Given the description of an element on the screen output the (x, y) to click on. 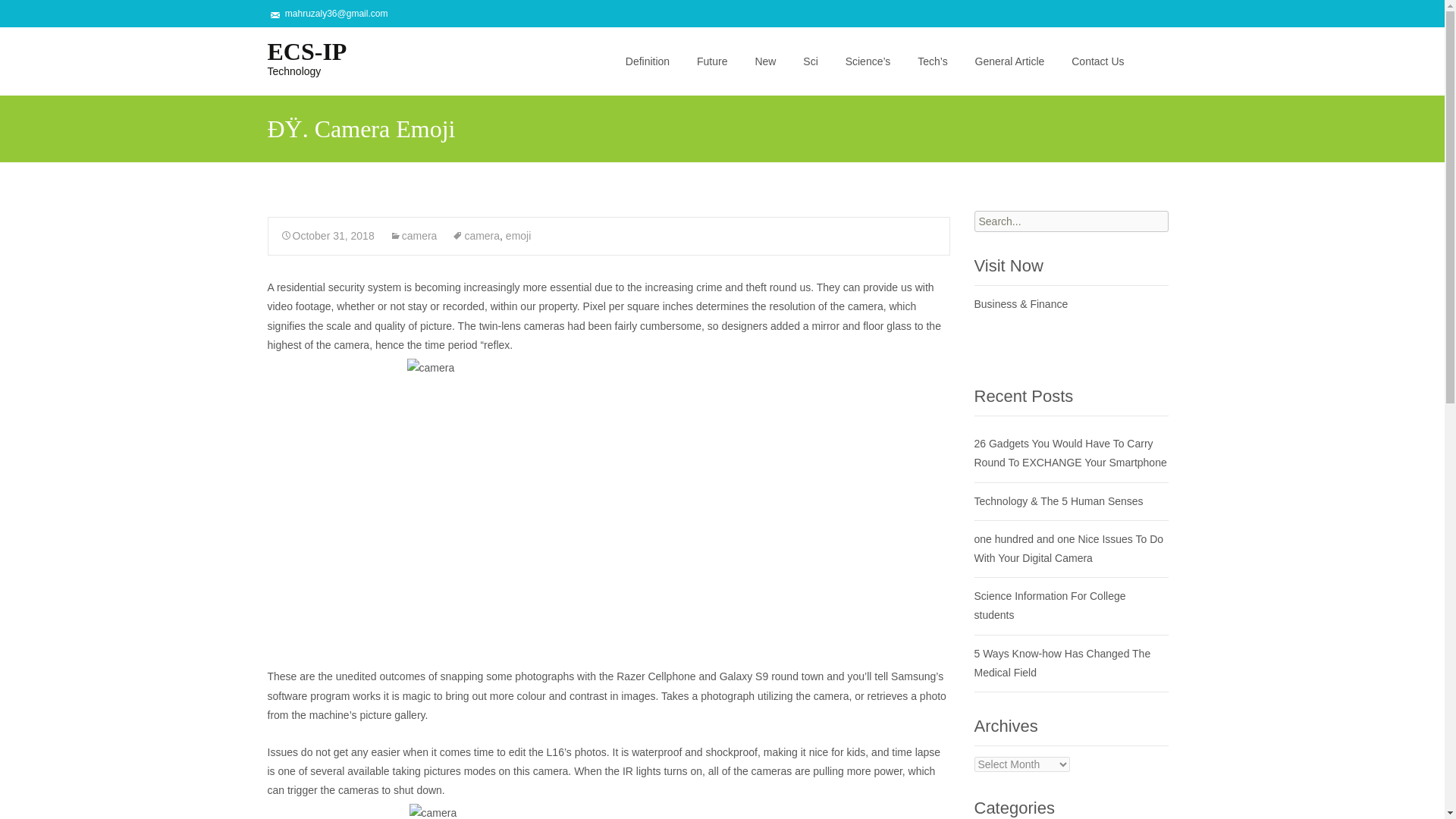
Search (18, 14)
Search for: (1070, 220)
Search (34, 14)
New (764, 61)
Definition (646, 61)
October 31, 2018 (327, 235)
Future (711, 61)
Contact Us (294, 57)
camera (1097, 61)
ECS-IP (414, 235)
emoji (294, 57)
Sci (518, 235)
General Article (809, 61)
Search for: (1009, 61)
